Given the description of an element on the screen output the (x, y) to click on. 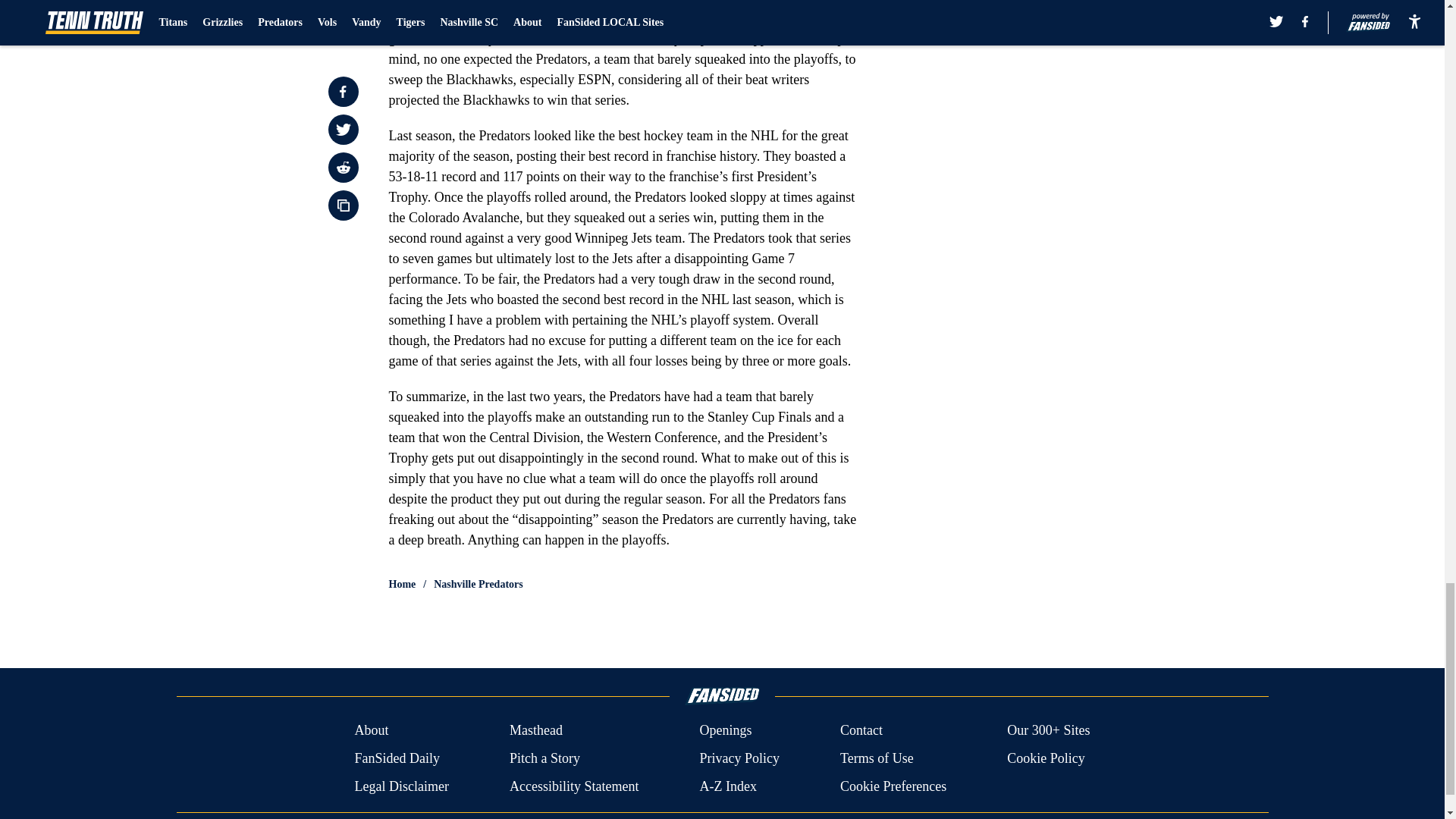
Legal Disclaimer (400, 786)
Contact (861, 730)
Privacy Policy (738, 758)
FanSided Daily (396, 758)
Accessibility Statement (574, 786)
Terms of Use (877, 758)
Home (401, 584)
Pitch a Story (544, 758)
Masthead (535, 730)
Cookie Policy (1045, 758)
A-Z Index (726, 786)
Openings (724, 730)
About (370, 730)
Nashville Predators (477, 584)
